Given the description of an element on the screen output the (x, y) to click on. 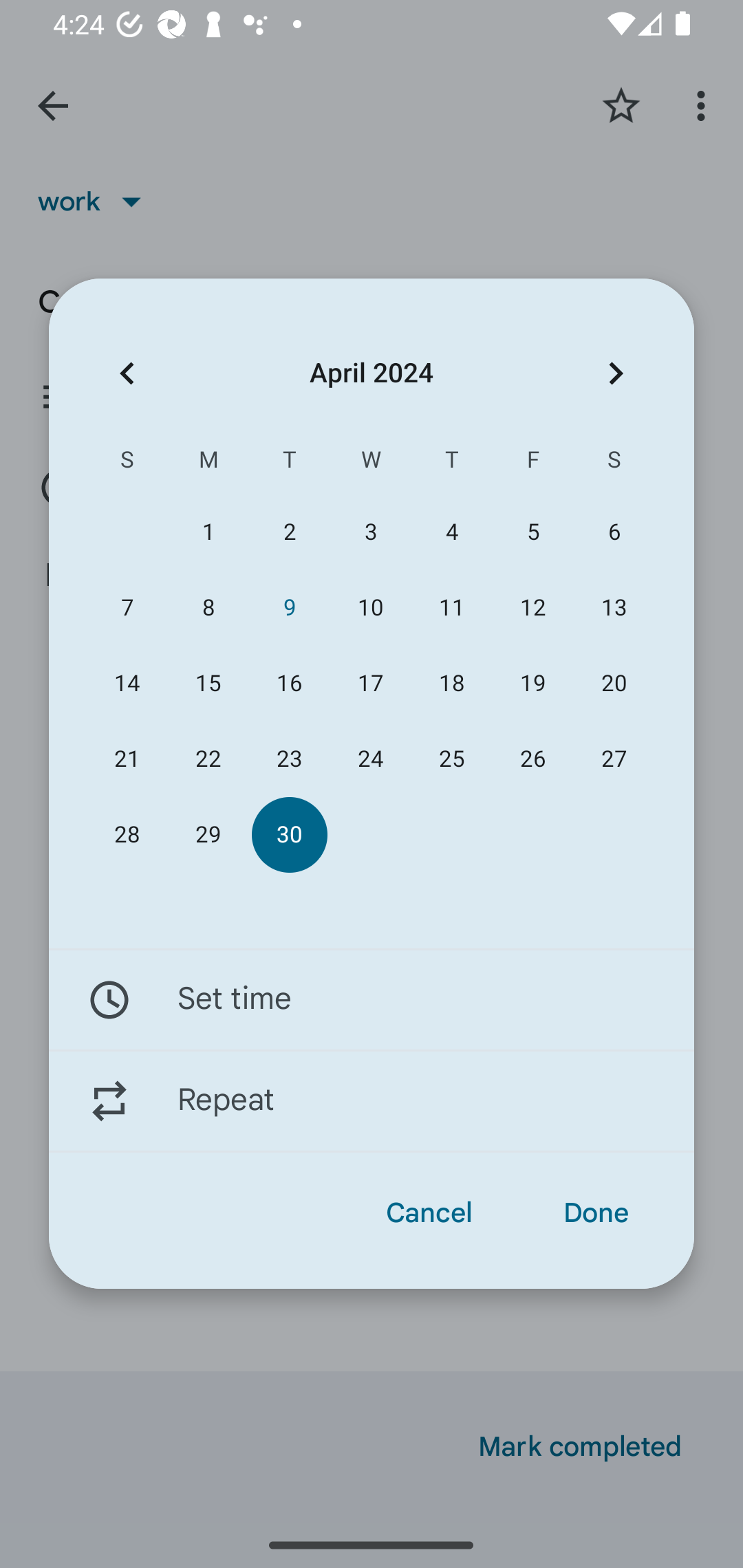
Previous month (126, 372)
Next month (615, 372)
1 01 April 2024 (207, 531)
2 02 April 2024 (288, 531)
3 03 April 2024 (370, 531)
4 04 April 2024 (451, 531)
5 05 April 2024 (532, 531)
6 06 April 2024 (613, 531)
7 07 April 2024 (126, 608)
8 08 April 2024 (207, 608)
9 09 April 2024 (288, 608)
10 10 April 2024 (370, 608)
11 11 April 2024 (451, 608)
12 12 April 2024 (532, 608)
13 13 April 2024 (613, 608)
14 14 April 2024 (126, 683)
15 15 April 2024 (207, 683)
16 16 April 2024 (288, 683)
17 17 April 2024 (370, 683)
18 18 April 2024 (451, 683)
19 19 April 2024 (532, 683)
20 20 April 2024 (613, 683)
21 21 April 2024 (126, 758)
22 22 April 2024 (207, 758)
23 23 April 2024 (288, 758)
24 24 April 2024 (370, 758)
25 25 April 2024 (451, 758)
26 26 April 2024 (532, 758)
27 27 April 2024 (613, 758)
28 28 April 2024 (126, 834)
29 29 April 2024 (207, 834)
30 30 April 2024 (288, 834)
Set time (371, 999)
Repeat (371, 1101)
Cancel (429, 1213)
Done (595, 1213)
